Given the description of an element on the screen output the (x, y) to click on. 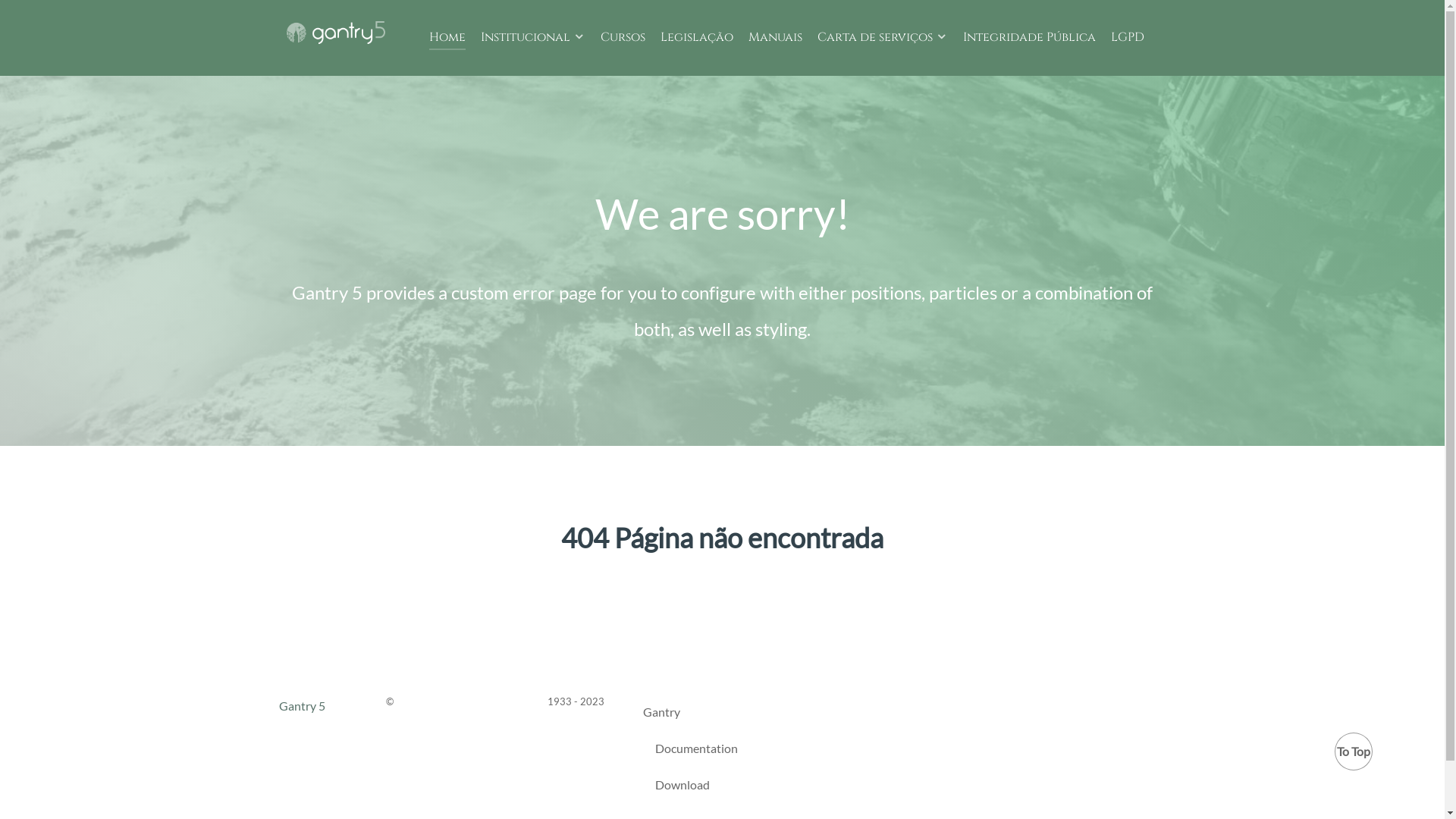
Documentation Element type: text (696, 751)
LGPD Element type: text (1126, 37)
Gantry Element type: text (661, 714)
To Top Element type: text (1353, 751)
Home Element type: text (447, 37)
Gantry 5 Element type: hover (335, 30)
Cursos Element type: text (622, 37)
Download Element type: text (682, 787)
Manuais Element type: text (774, 37)
Gantry 5 Element type: text (302, 705)
